Given the description of an element on the screen output the (x, y) to click on. 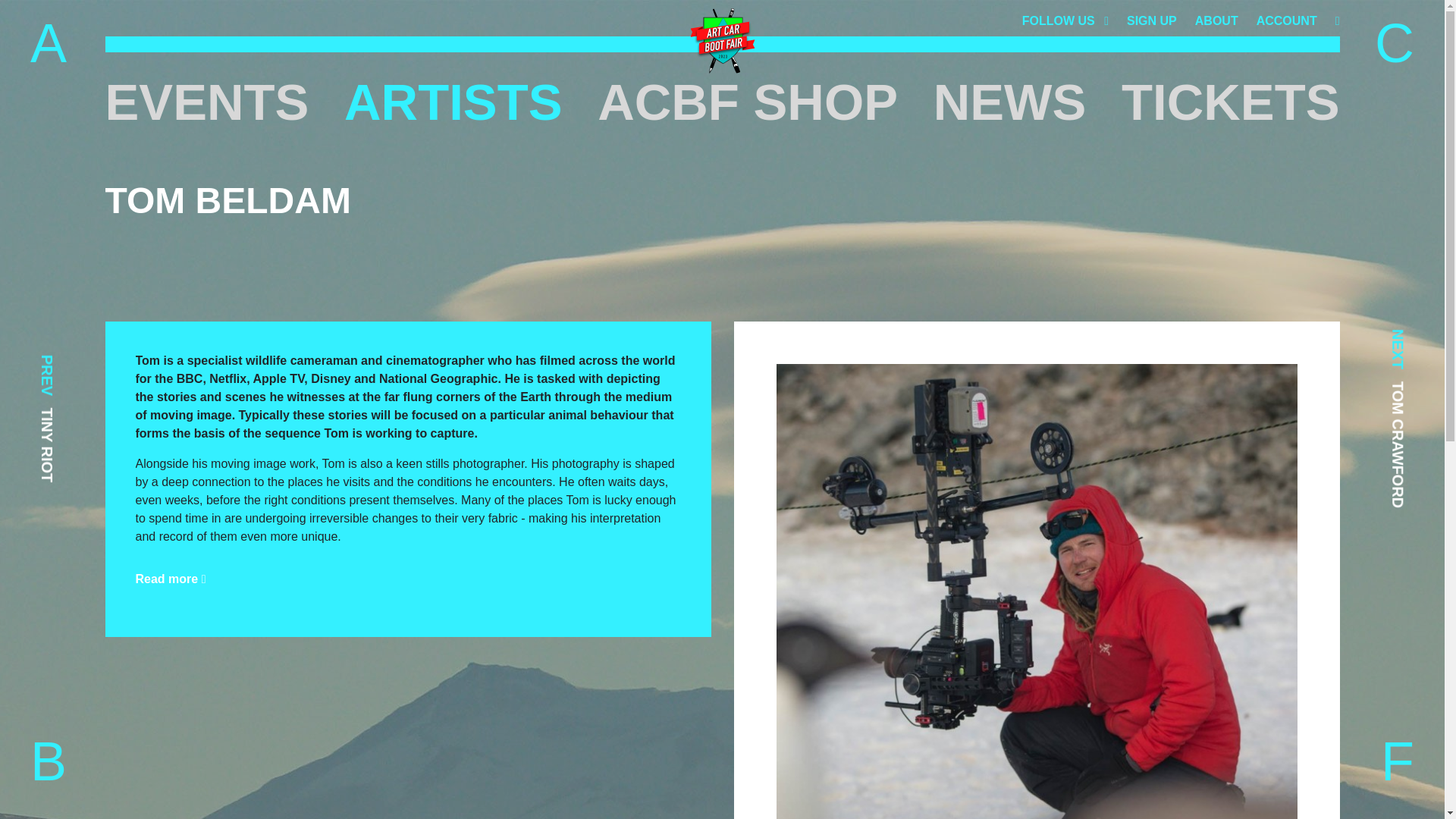
ACBF SHOP (747, 101)
ACBF Shop (747, 101)
Sign Up (1151, 20)
Tickets (1230, 101)
News (1009, 101)
ABOUT (1217, 20)
NEWS (1009, 101)
Account (1286, 20)
Read more (170, 578)
ARTISTS (452, 101)
Events (206, 101)
About (1217, 20)
TICKETS (1230, 101)
SIGN UP (1151, 20)
FOLLOW US (1065, 20)
